Given the description of an element on the screen output the (x, y) to click on. 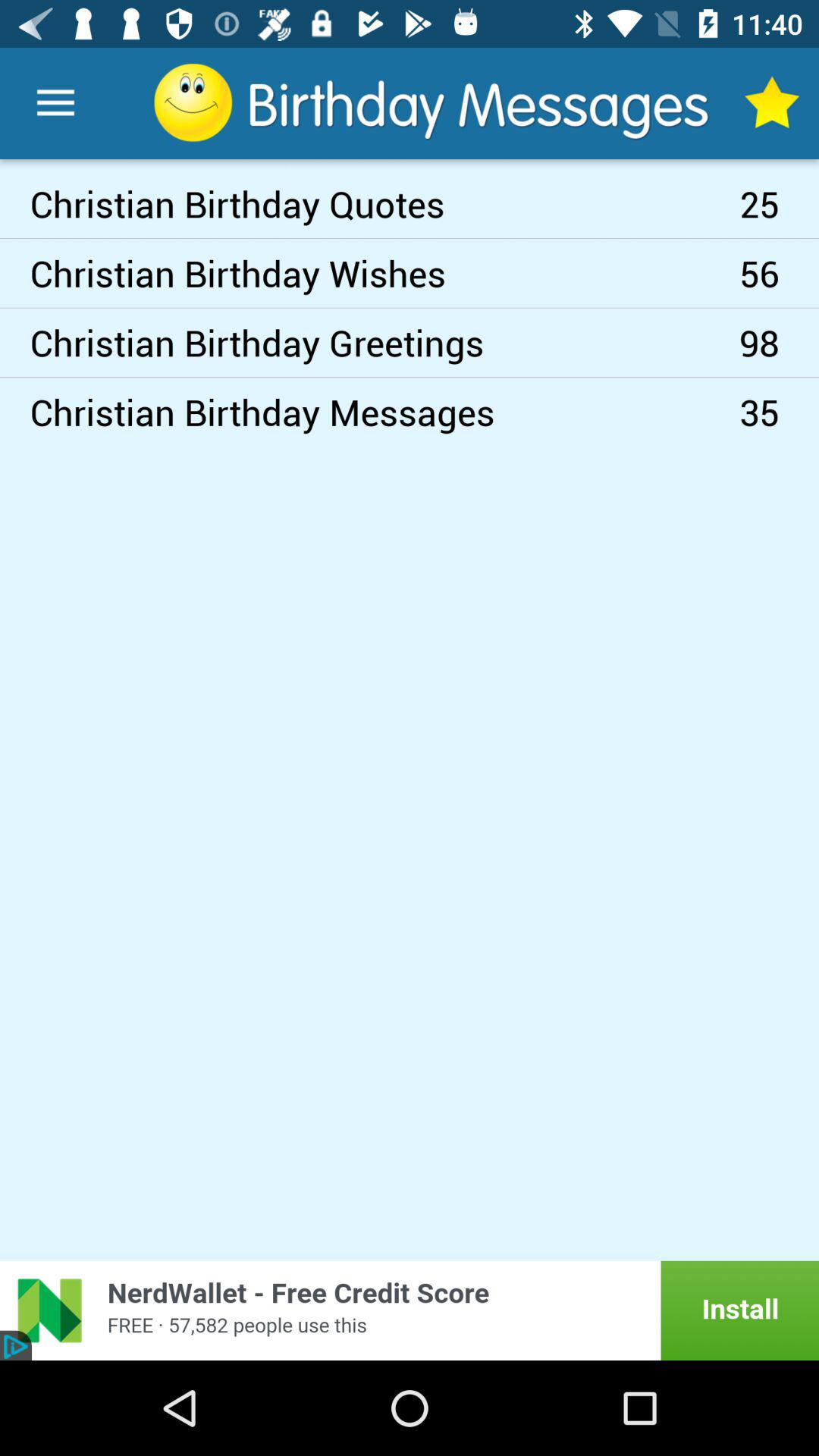
turn off the item below the 98 icon (779, 411)
